Given the description of an element on the screen output the (x, y) to click on. 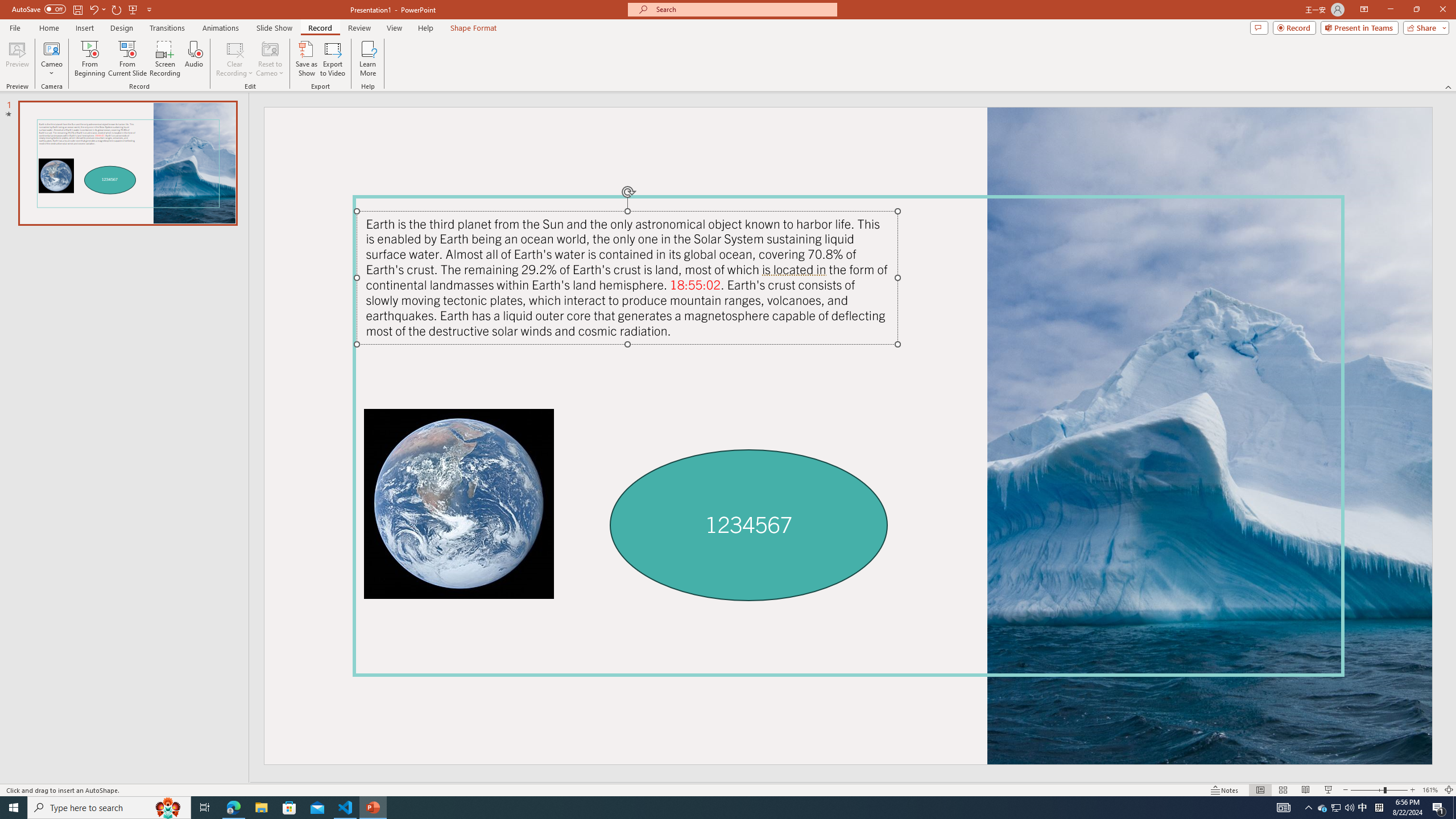
Zoom 161% (1430, 790)
